Given the description of an element on the screen output the (x, y) to click on. 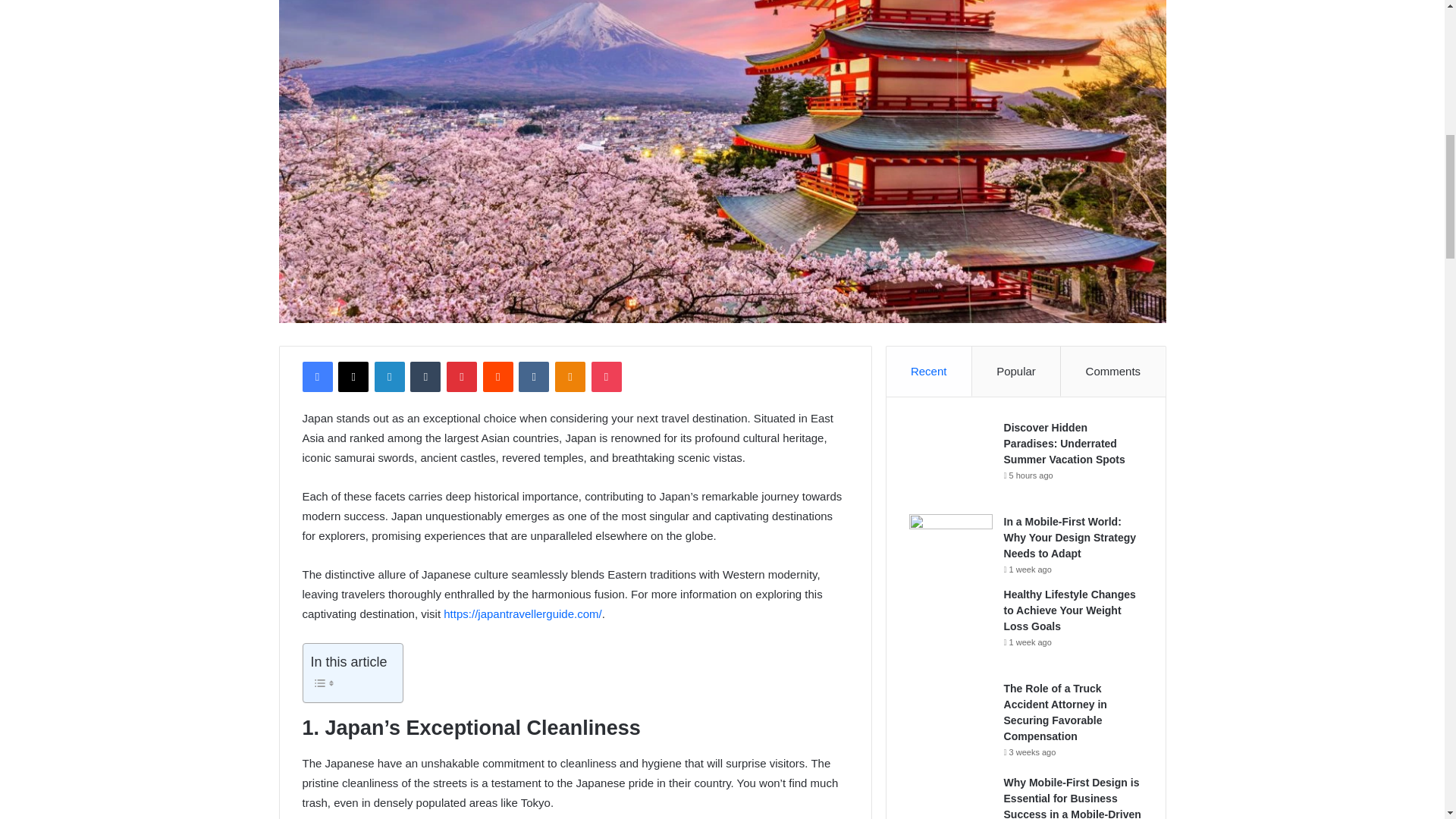
Facebook (316, 376)
Tumblr (425, 376)
X (352, 376)
LinkedIn (389, 376)
Pinterest (461, 376)
